Given the description of an element on the screen output the (x, y) to click on. 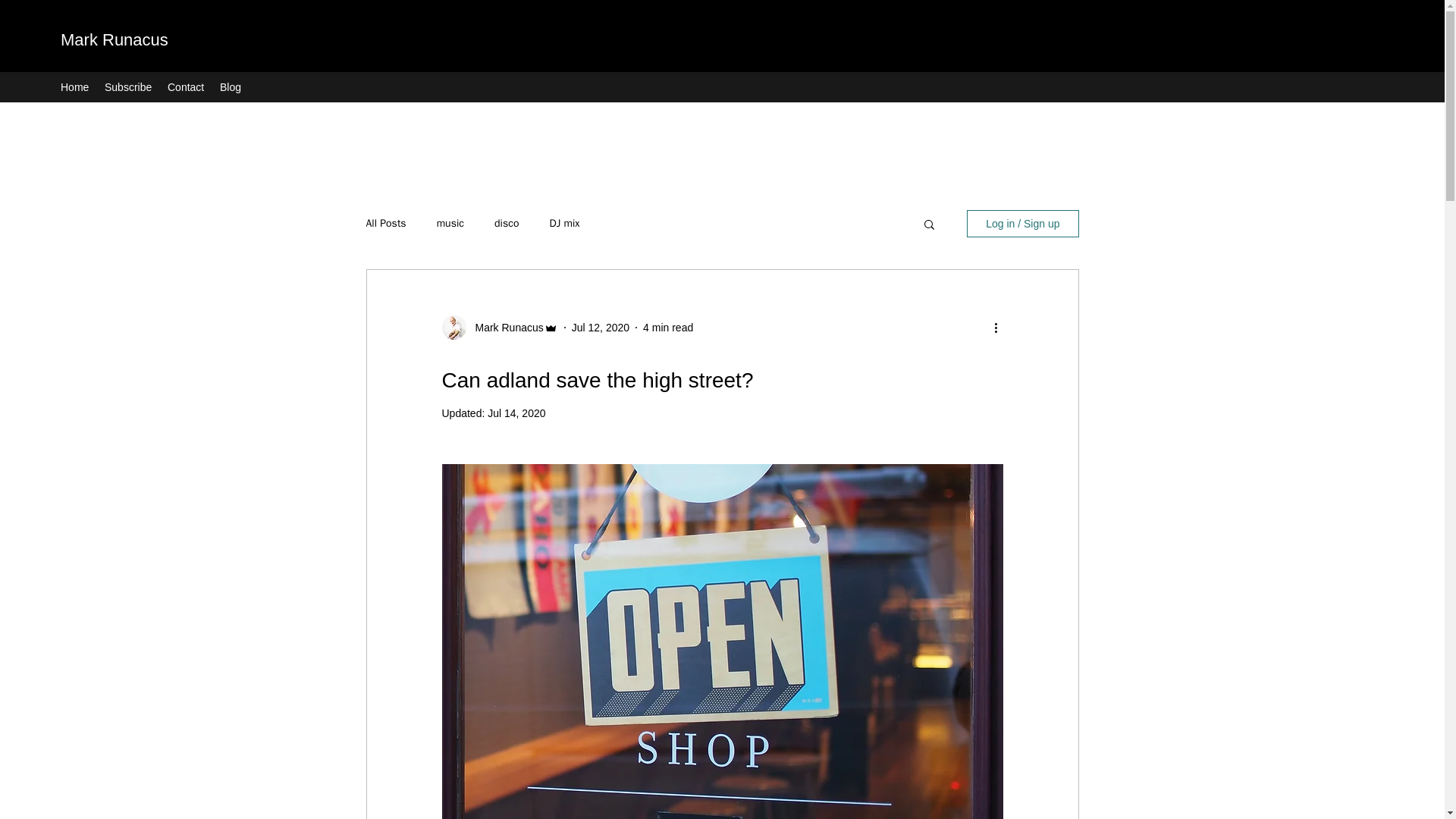
DJ mix (563, 223)
Mark Runacus (114, 39)
Home (74, 87)
Subscribe (128, 87)
Mark Runacus (504, 327)
4 min read (668, 327)
Jul 12, 2020 (600, 327)
Contact (186, 87)
disco (506, 223)
All Posts (385, 223)
